Given the description of an element on the screen output the (x, y) to click on. 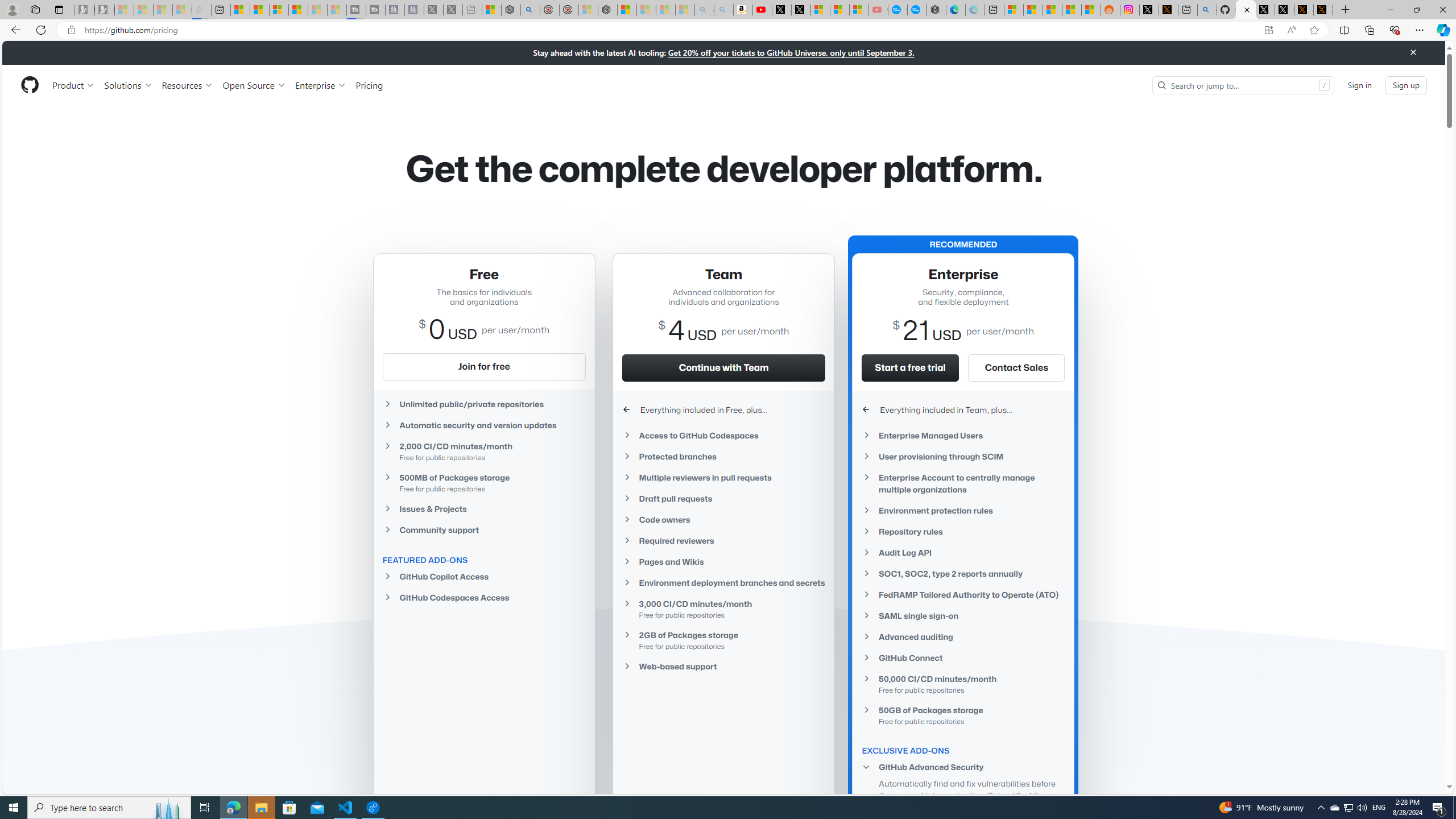
Streaming Coverage | T3 - Sleeping (356, 9)
X (800, 9)
SAML single sign-on (963, 615)
The most popular Google 'how to' searches (916, 9)
Required reviewers (723, 540)
Profile / X (1264, 9)
Enterprise Managed Users (963, 435)
Environment deployment branches and secrets (723, 582)
